Given the description of an element on the screen output the (x, y) to click on. 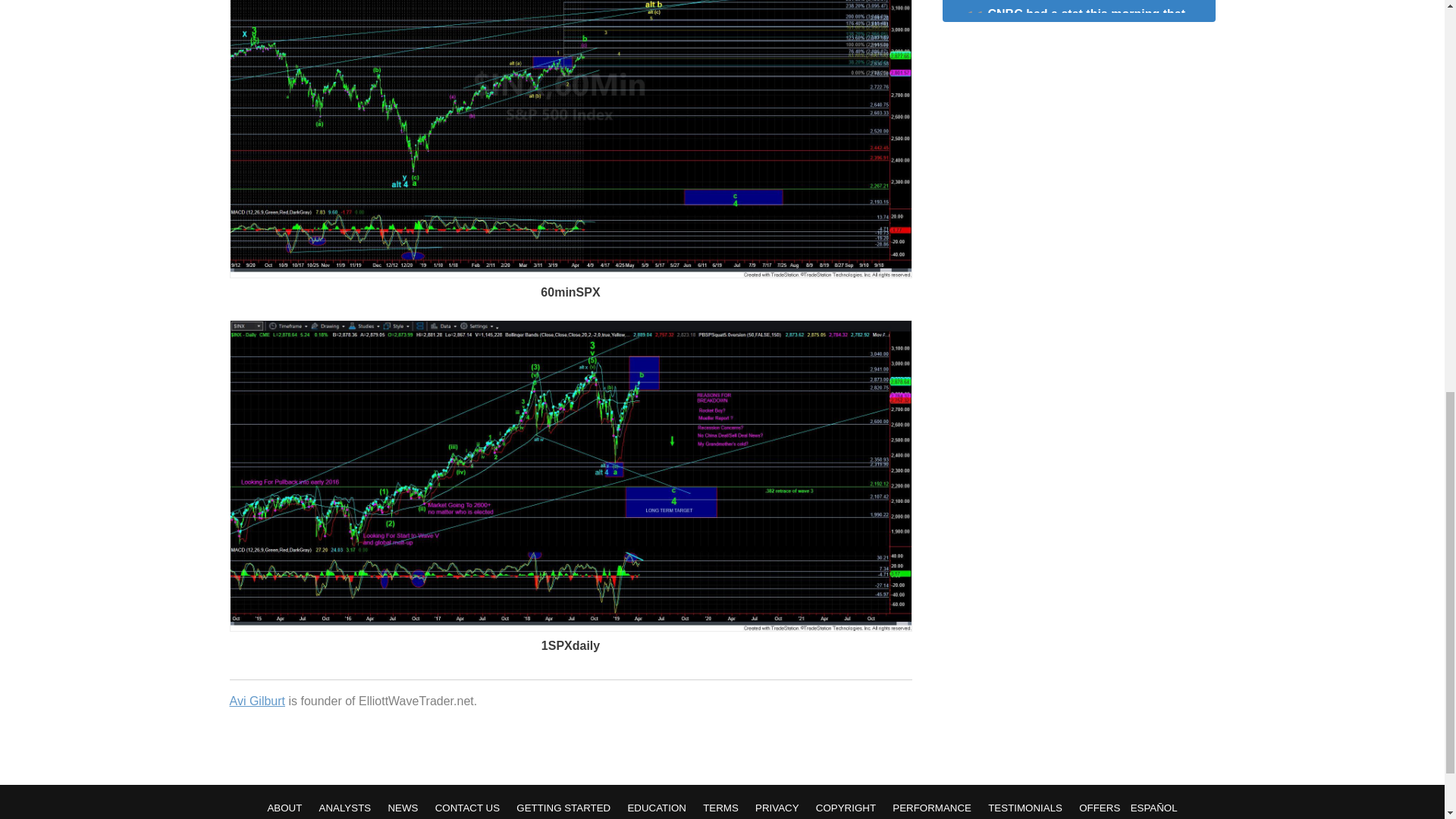
TERMS (720, 808)
ABOUT (283, 808)
Click to Enlarge (569, 273)
COPYRIGHT (845, 808)
TESTIMONIALS (1025, 808)
ANALYSTS (344, 808)
Avi Gilburt (256, 700)
EDUCATION (656, 808)
PERFORMANCE (931, 808)
Click to Enlarge (569, 626)
OFFERS (1098, 808)
CONTACT US (467, 808)
NEWS (402, 808)
PRIVACY (777, 808)
GETTING STARTED (563, 808)
